Given the description of an element on the screen output the (x, y) to click on. 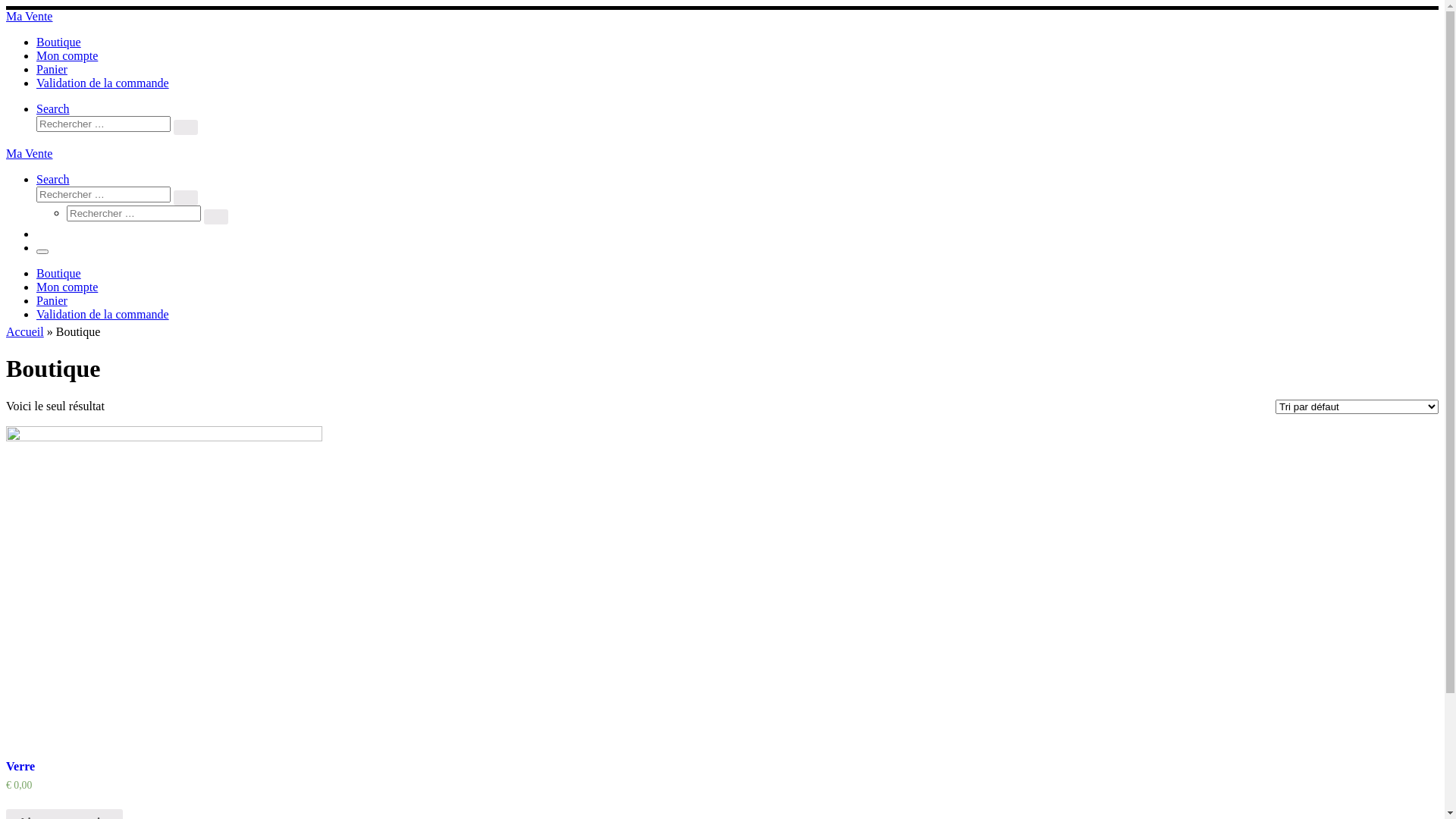
Ma Vente Element type: text (29, 153)
Panier Element type: text (51, 300)
Boutique Element type: text (58, 272)
Skip to content Element type: text (5, 5)
Panier Element type: text (51, 68)
Search Element type: text (52, 108)
Mon compte Element type: text (66, 286)
Validation de la commande Element type: text (102, 313)
Search Element type: text (52, 178)
Menu Element type: text (42, 251)
Ma Vente Element type: text (29, 15)
Mon compte Element type: text (66, 55)
Boutique Element type: text (58, 41)
Accueil Element type: text (24, 331)
Validation de la commande Element type: text (102, 82)
